Given the description of an element on the screen output the (x, y) to click on. 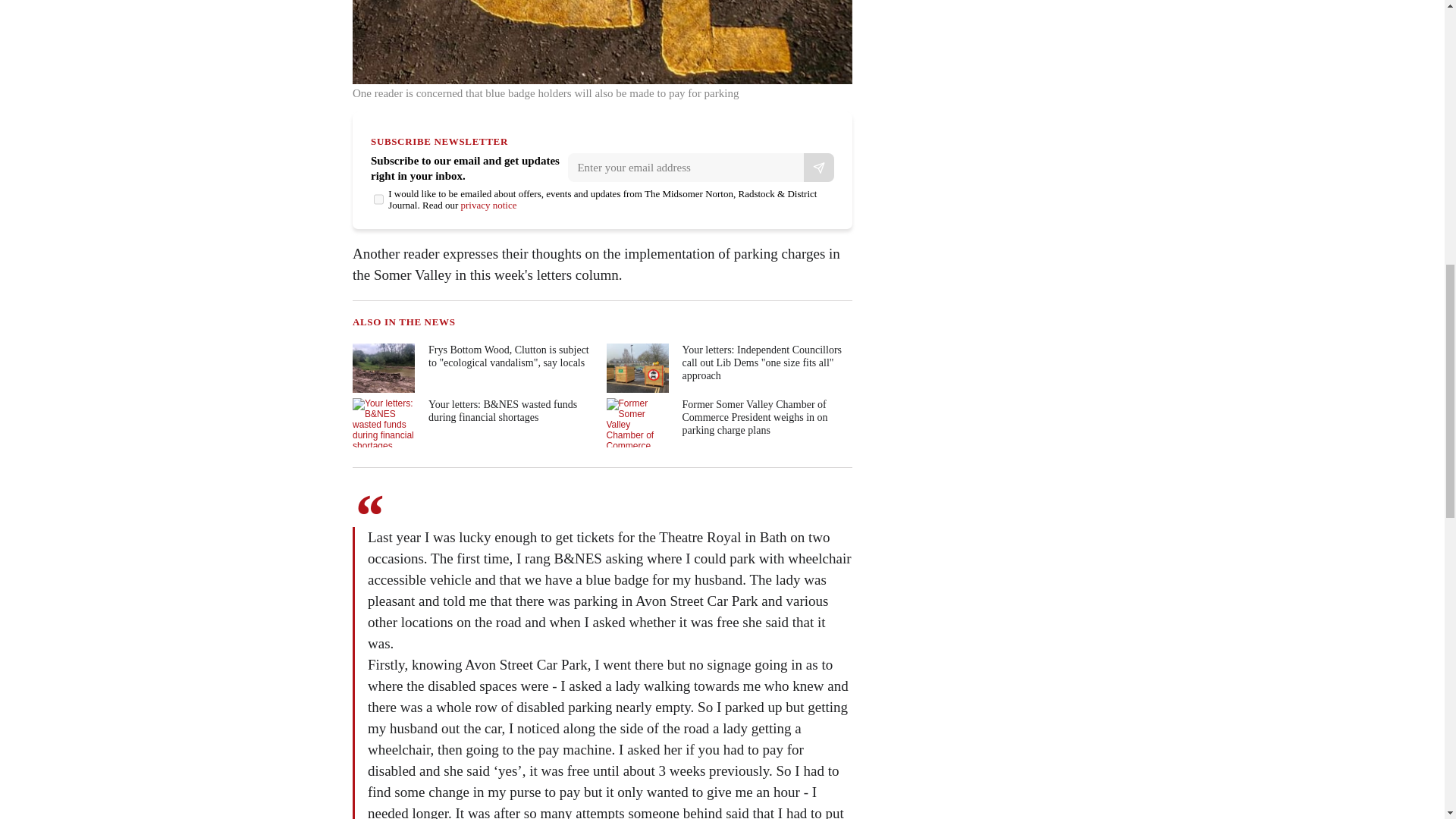
privacy notice (488, 204)
